Given the description of an element on the screen output the (x, y) to click on. 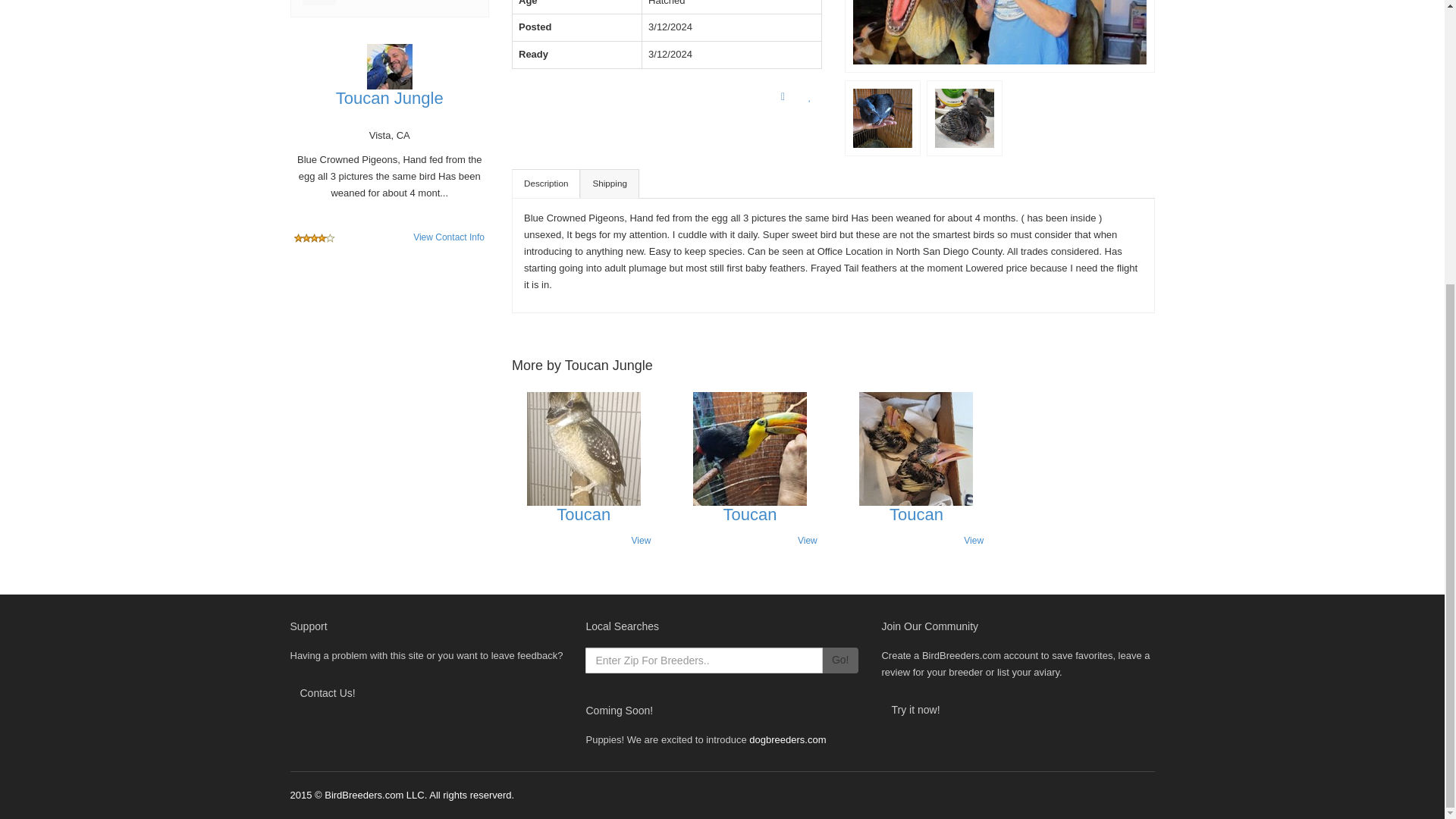
Add To Favorites (809, 96)
Report Listing (782, 96)
